Given the description of an element on the screen output the (x, y) to click on. 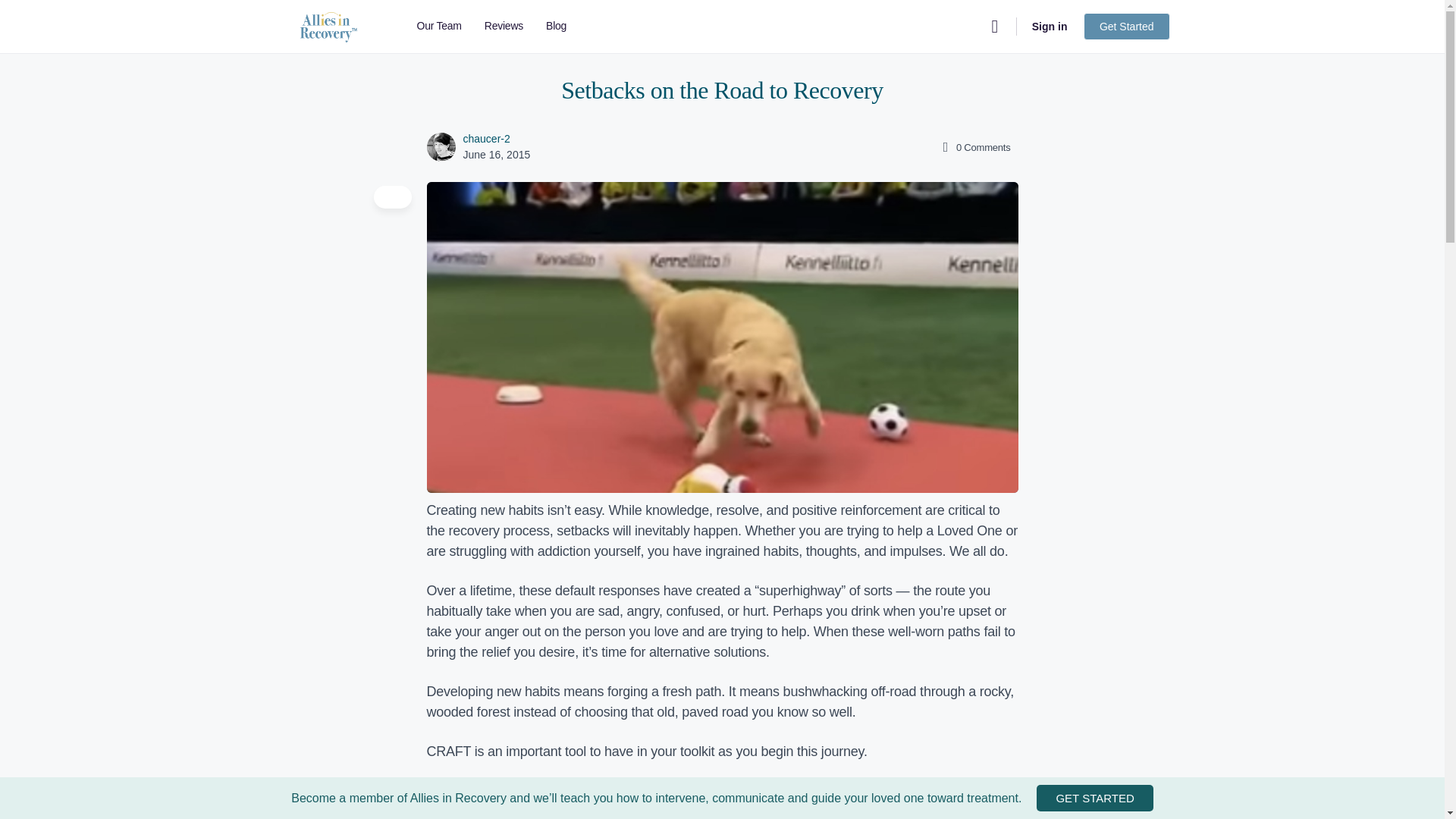
Get Started (1126, 26)
Reviews (504, 26)
Our Team (438, 26)
June 16, 2015 (496, 154)
Sign in (1050, 26)
0 Comments (974, 147)
GET STARTED (1094, 797)
chaucer-2 (486, 138)
